Given the description of an element on the screen output the (x, y) to click on. 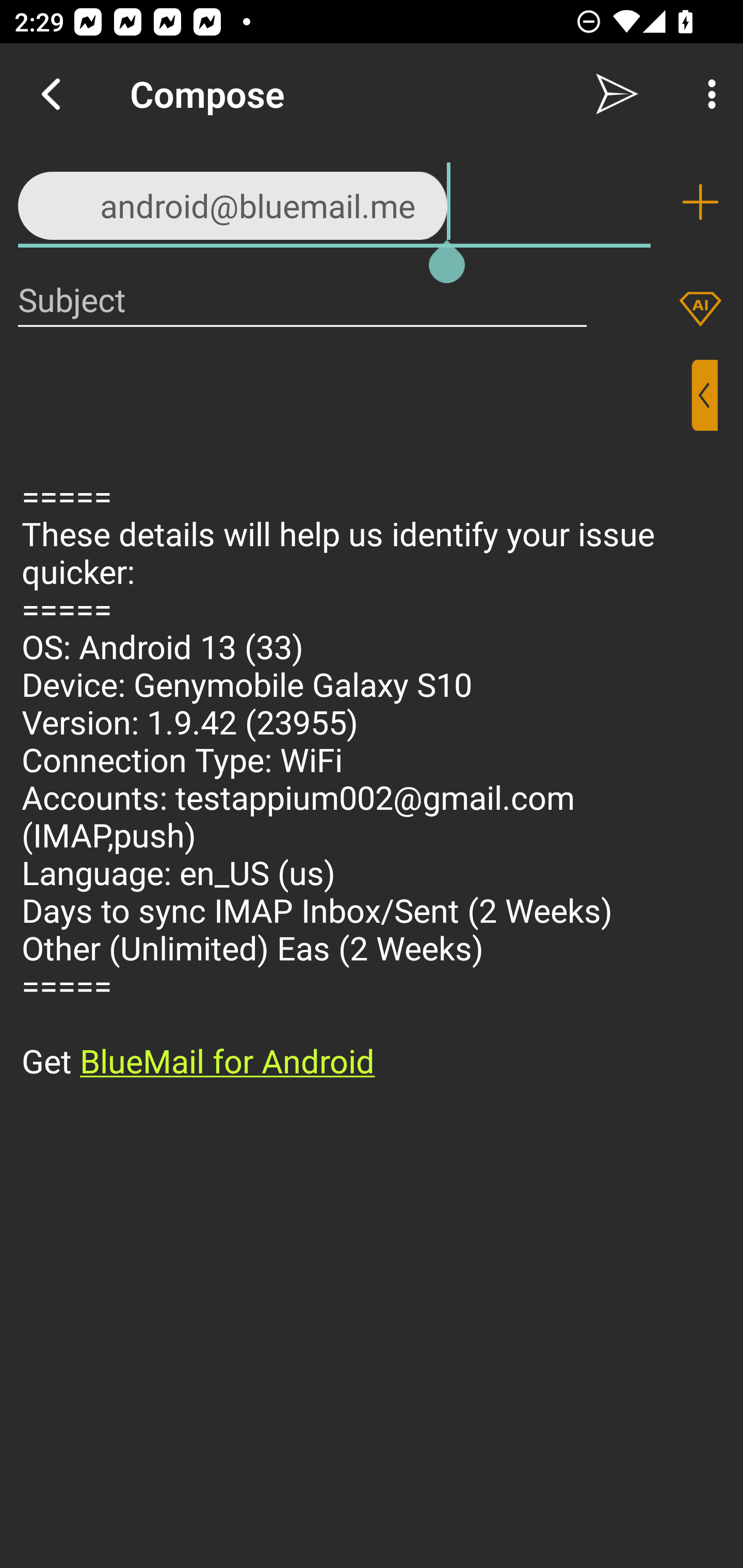
Navigate up (50, 93)
Send (616, 93)
More Options (706, 93)
<android@bluemail.me>,  (334, 201)
Add recipient (To) (699, 201)
Subject (302, 299)
